Given the description of an element on the screen output the (x, y) to click on. 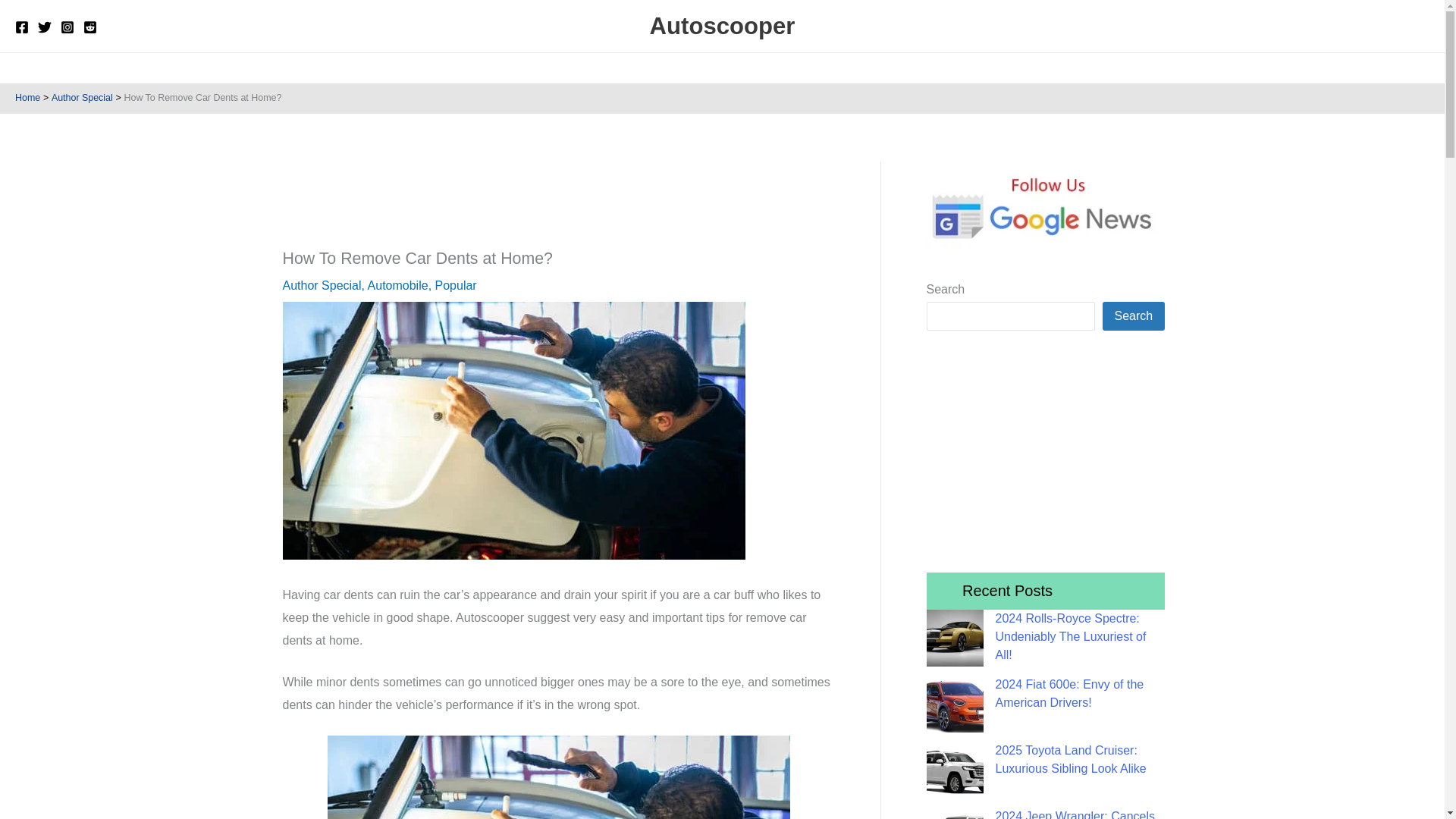
Car Review (611, 68)
Home (492, 68)
Home (27, 97)
Advertisement (558, 202)
Advertisement (1044, 447)
Popular (675, 68)
Automobile (739, 68)
Web Stories (938, 68)
Author Special (81, 97)
EV Charging Station (839, 68)
